Given the description of an element on the screen output the (x, y) to click on. 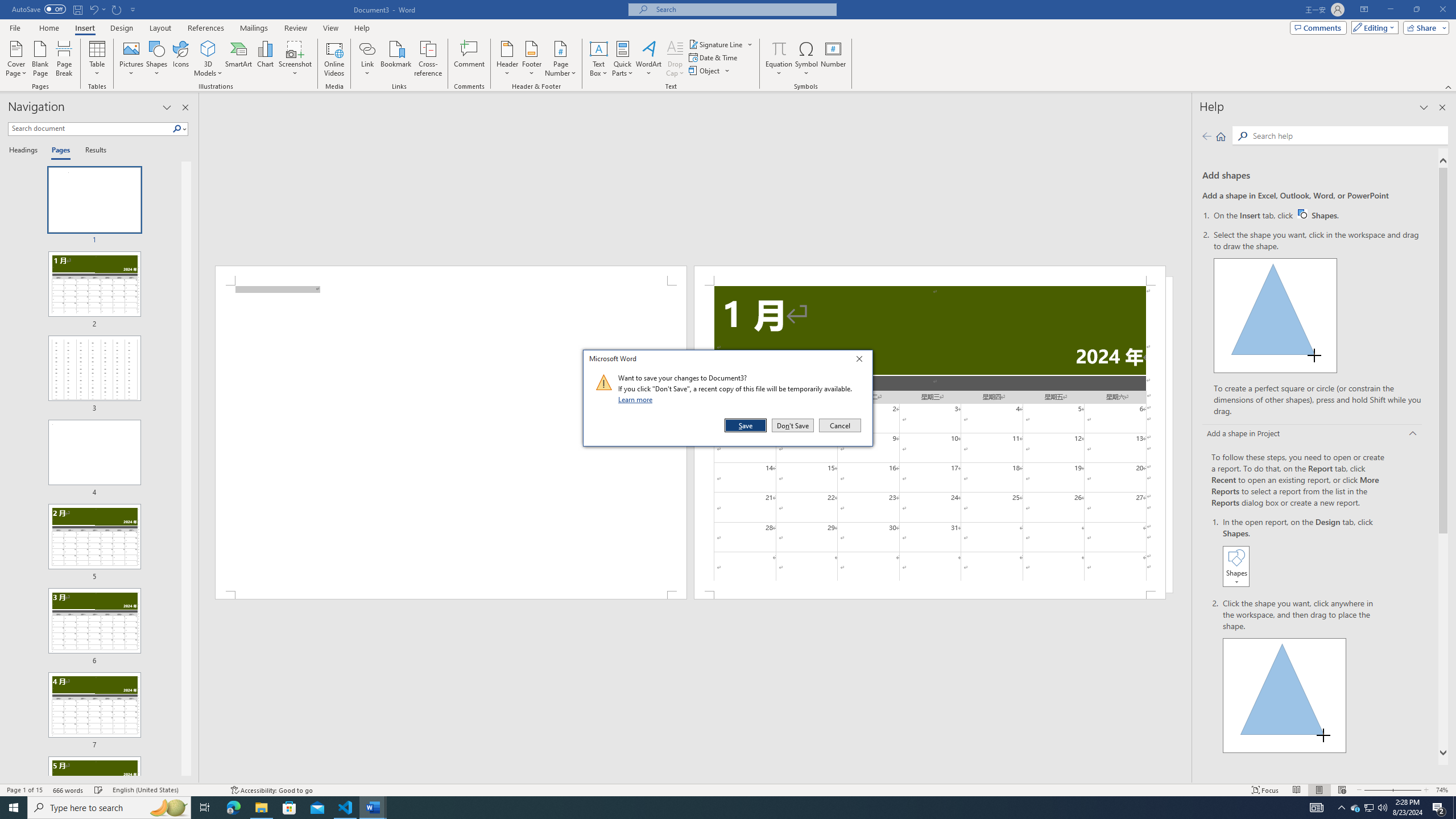
Learn more (636, 399)
SmartArt... (238, 58)
Shapes (156, 58)
Drop Cap (674, 58)
Undo New Page (96, 9)
Page Break (63, 58)
Signature Line (721, 44)
